Given the description of an element on the screen output the (x, y) to click on. 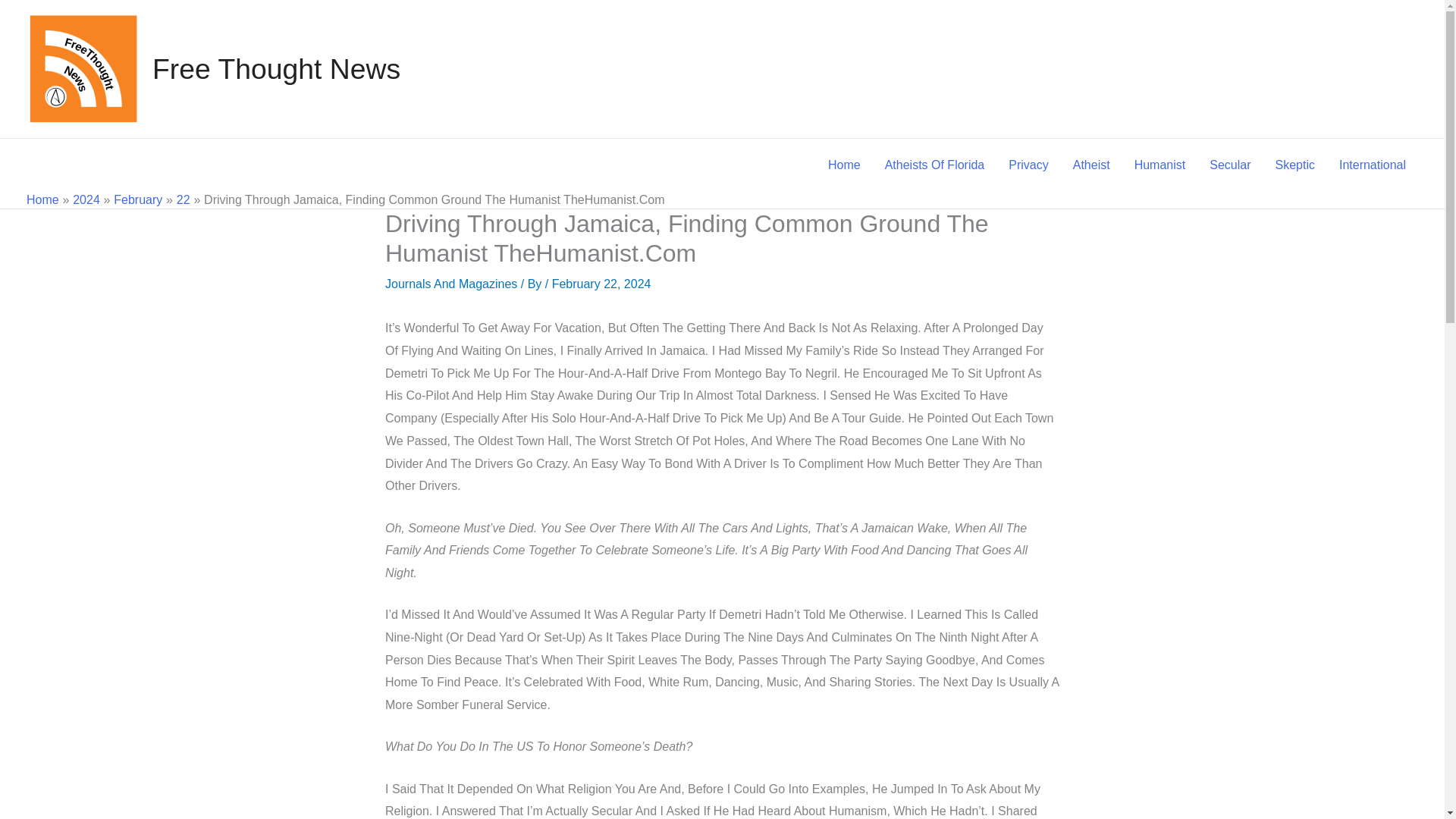
Skeptic (1294, 164)
February (137, 199)
Atheists Of Florida (934, 164)
Secular (1229, 164)
Home (843, 164)
International (1372, 164)
Privacy (1027, 164)
Atheist (1091, 164)
Journals And Magazines (450, 283)
Home (42, 199)
22 (183, 199)
Free Thought News (276, 69)
Humanist (1160, 164)
2024 (86, 199)
